Given the description of an element on the screen output the (x, y) to click on. 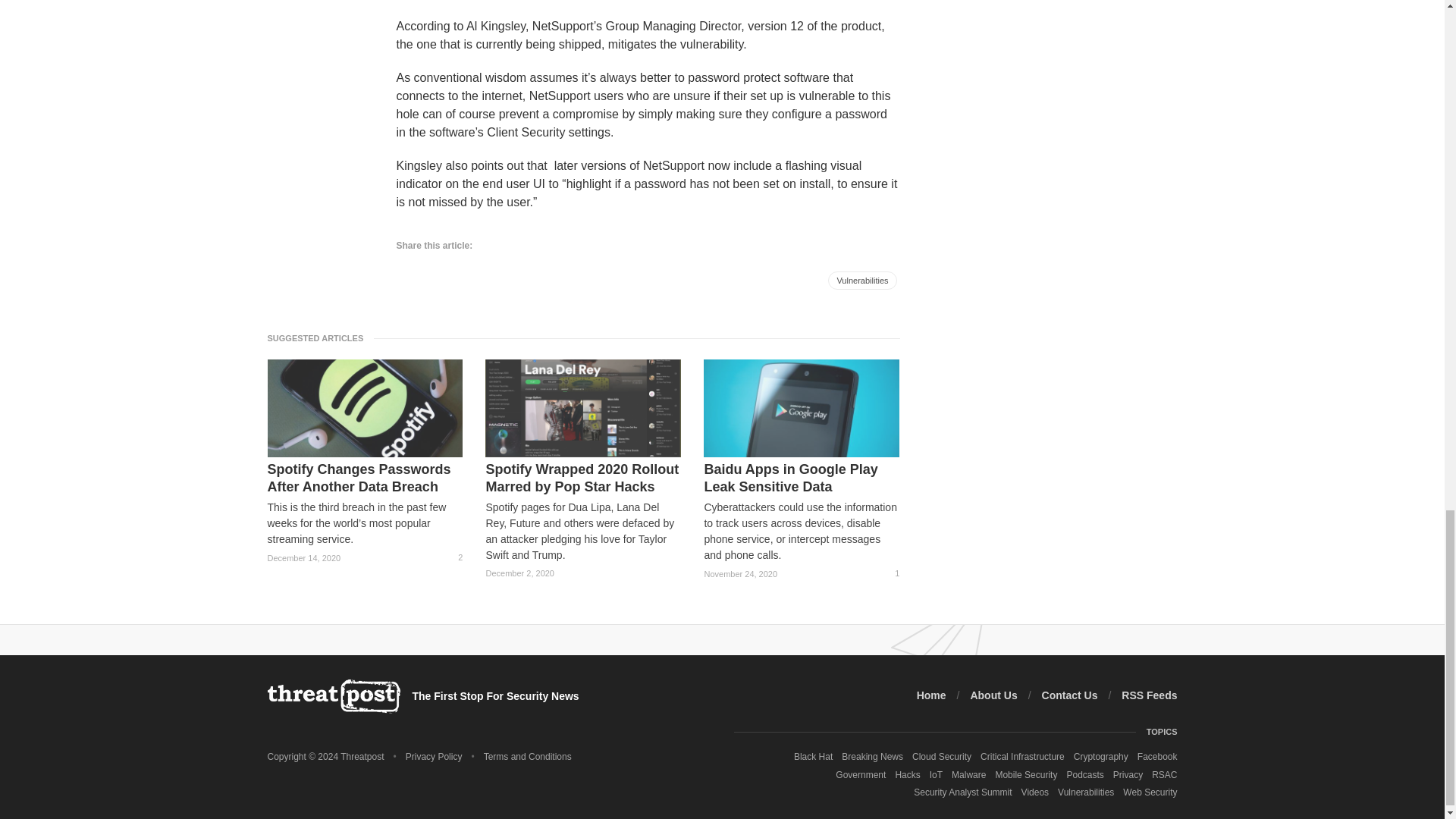
2 (453, 557)
Spotify Wrapped 2020 Rollout Marred by Pop Star Hacks (582, 478)
SUGGESTED ARTICLES (319, 337)
Spotify Changes Passwords After Another Data Breach (364, 478)
1 (889, 573)
Baidu Apps in Google Play Leak Sensitive Data (801, 478)
Vulnerabilities (862, 280)
